Given the description of an element on the screen output the (x, y) to click on. 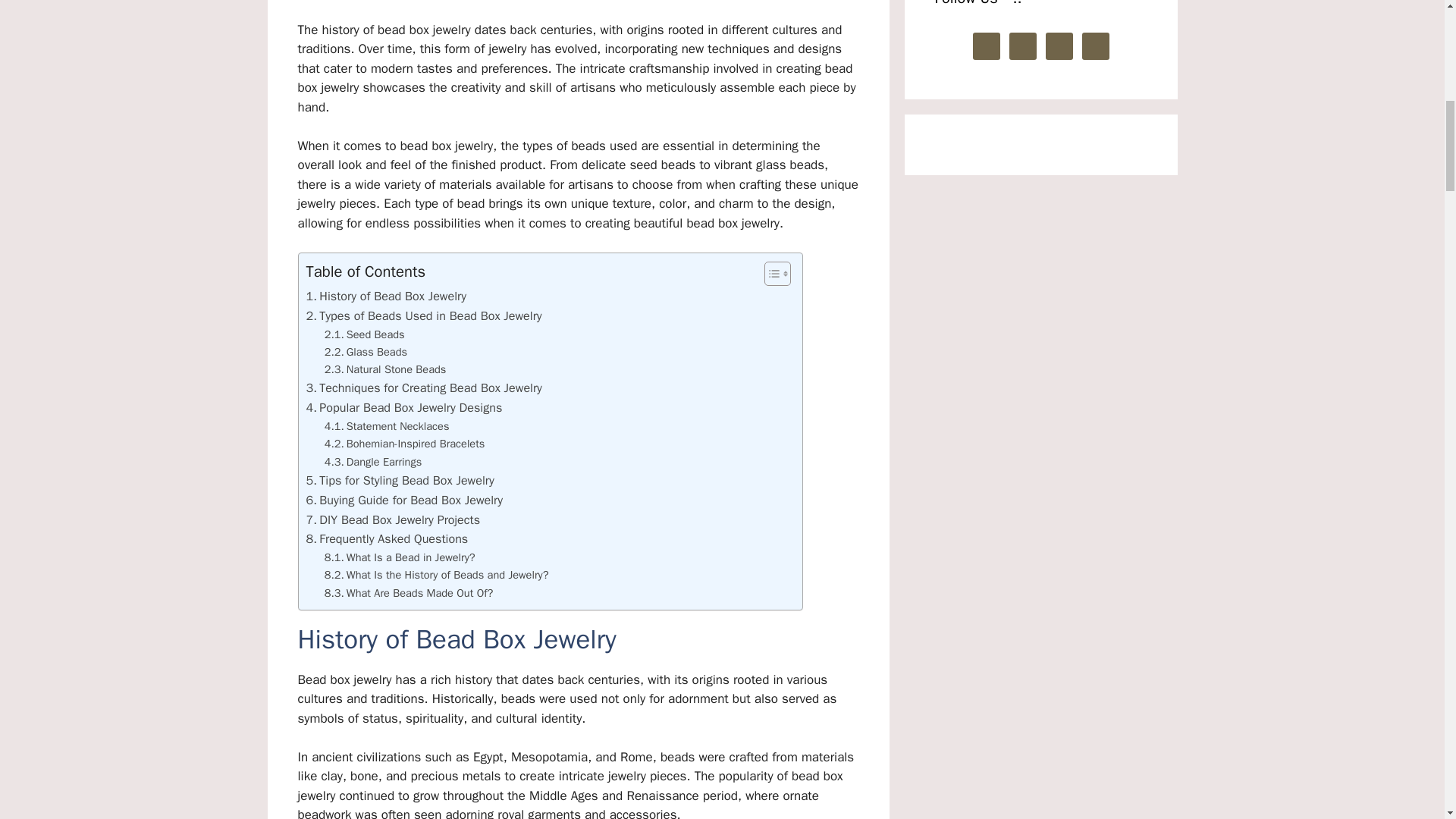
Seed Beads (364, 334)
Tips for Styling Bead Box Jewelry (400, 480)
Popular Bead Box Jewelry Designs (403, 407)
History of Bead Box Jewelry (386, 296)
Techniques for Creating Bead Box Jewelry (423, 388)
Statement Necklaces (386, 425)
Types of Beads Used in Bead Box Jewelry (423, 315)
Bohemian-Inspired Bracelets (404, 443)
Natural Stone Beads (385, 369)
Buying Guide for Bead Box Jewelry (404, 500)
